Given the description of an element on the screen output the (x, y) to click on. 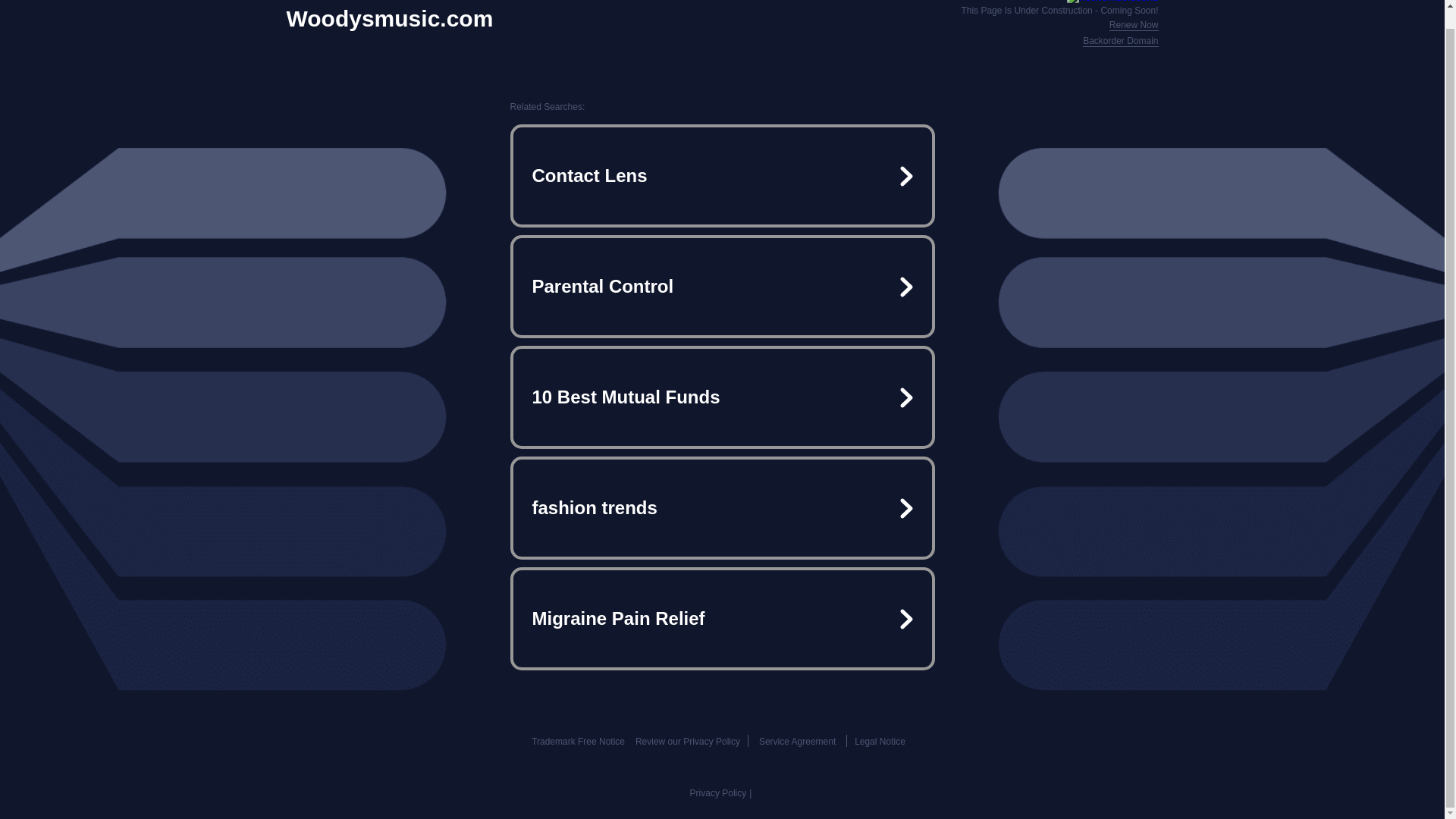
Review our Privacy Policy (686, 741)
Contact Lens (721, 175)
10 Best Mutual Funds (721, 396)
Backorder Domain (1120, 41)
10 Best Mutual Funds (721, 396)
Parental Control (721, 286)
Migraine Pain Relief (721, 618)
Privacy Policy (718, 792)
Trademark Free Notice (577, 741)
Legal Notice (879, 741)
Renew Now (1133, 25)
fashion trends (721, 507)
Woodysmusic.com (389, 18)
Contact Lens (721, 175)
Service Agreement (796, 741)
